Given the description of an element on the screen output the (x, y) to click on. 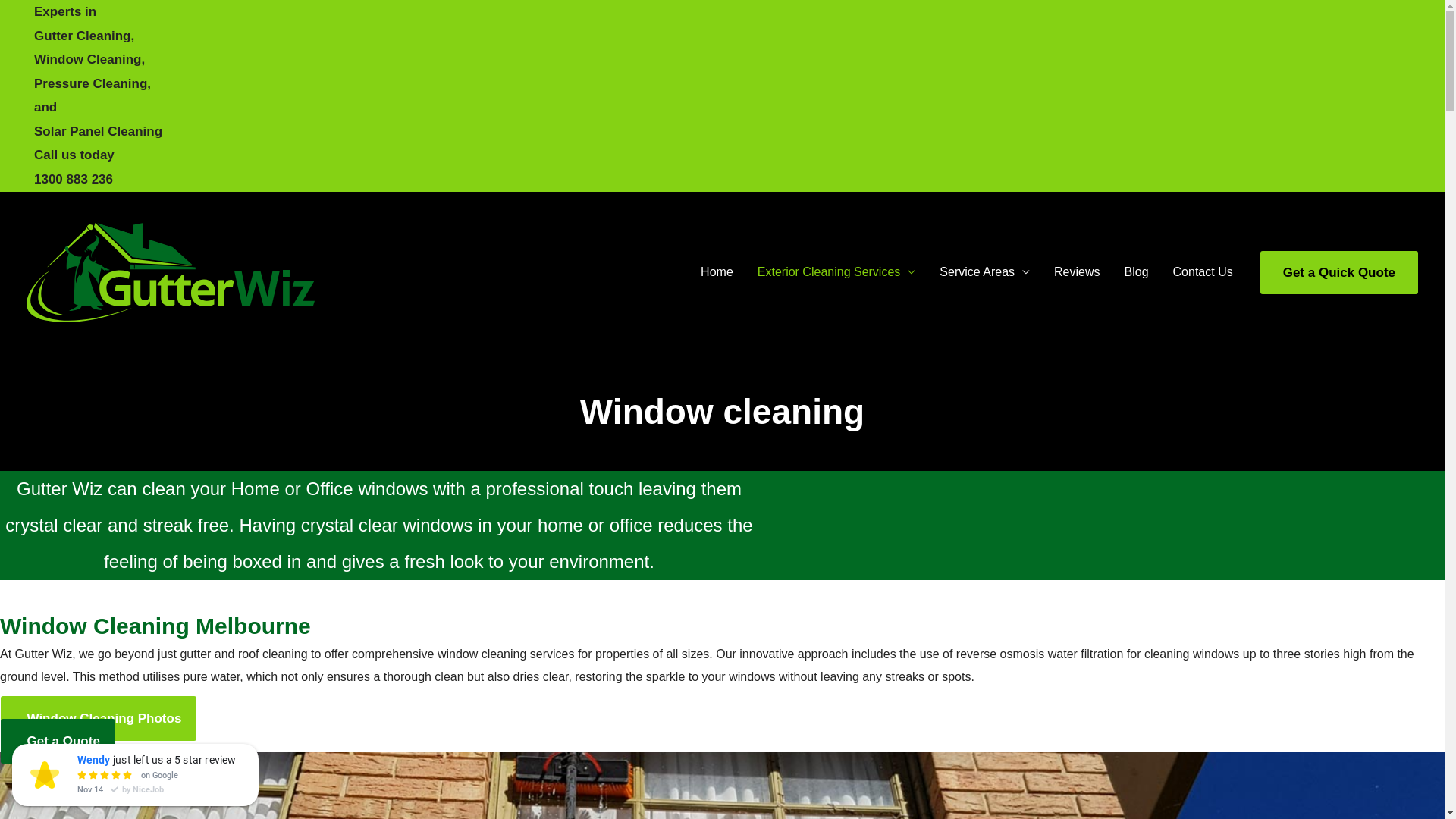
Exterior Cleaning Services Element type: text (836, 271)
Contact Us Element type: text (1203, 271)
Blog Element type: text (1136, 271)
Service Areas Element type: text (984, 271)
1300 883 236 Element type: text (73, 179)
Window Cleaning Photos Element type: text (98, 718)
Get a Quote Element type: text (57, 740)
Pressure Cleaning, Element type: text (92, 83)
Home Element type: text (716, 271)
Gutter Cleaning, Element type: text (84, 35)
Reviews Element type: text (1076, 271)
Solar Panel Cleaning Element type: text (98, 131)
Window Cleaning, Element type: text (89, 59)
Get a Quick Quote Element type: text (1339, 271)
